Given the description of an element on the screen output the (x, y) to click on. 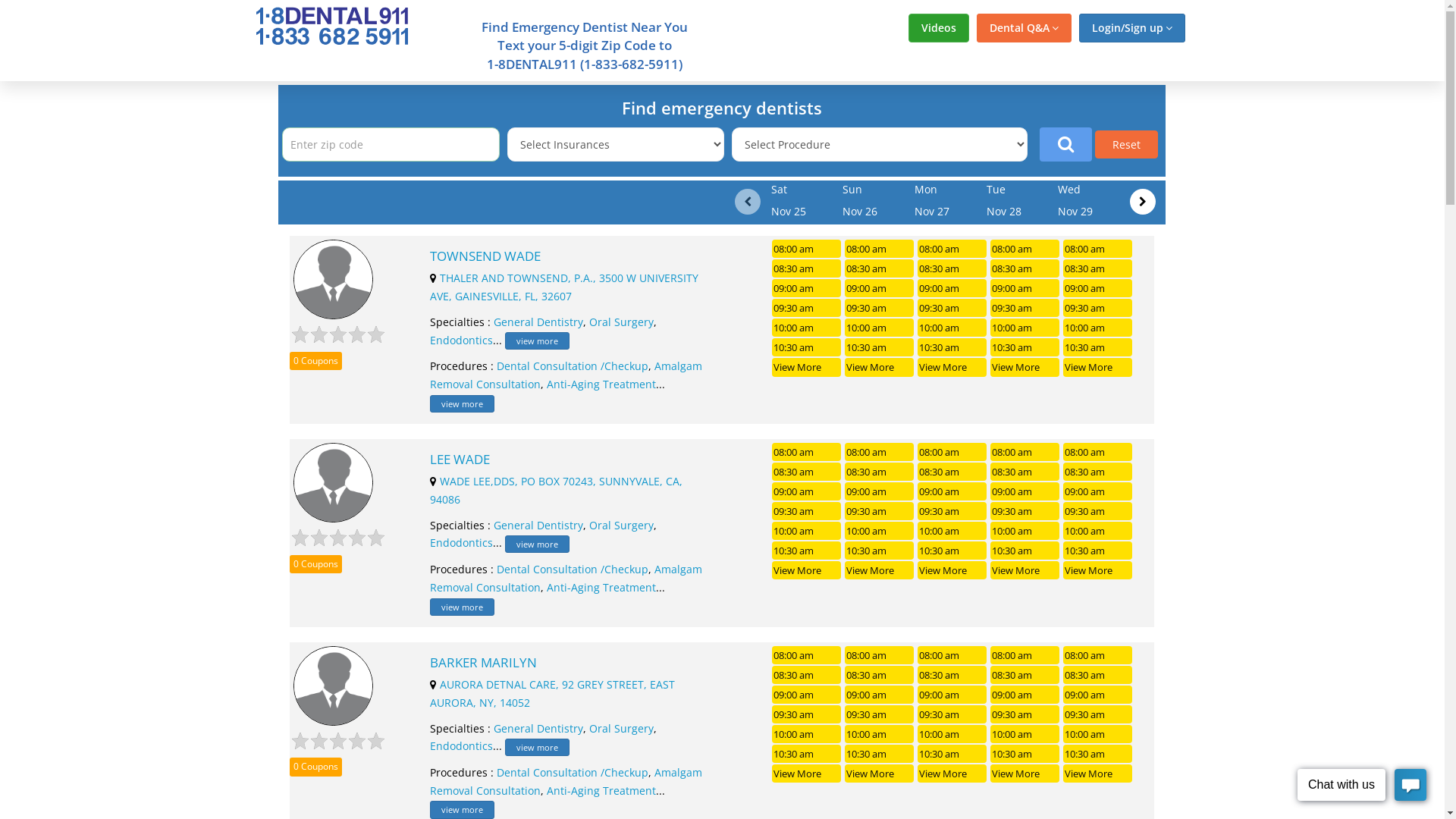
Colorado Element type: text (329, 434)
Hawaii Element type: text (467, 368)
Louisiana Element type: text (619, 325)
Illinois Element type: text (465, 434)
Delaware Element type: text (330, 500)
North carolina Element type: text (777, 325)
By name Element type: text (667, 291)
Arizona Element type: text (324, 390)
By Procedures Element type: text (1090, 291)
Nebraska Element type: text (763, 368)
District of columbia Element type: text (361, 478)
Alaska Element type: text (321, 325)
Minnesota Element type: text (622, 434)
Georgia Element type: text (469, 346)
Dental Q&A Element type: text (1023, 27)
Massachusetts Element type: text (635, 346)
Maine Element type: text (609, 390)
Mississippi Element type: text (623, 478)
By city Element type: text (561, 291)
Login/Sign up Element type: text (1131, 27)
Advertisement Element type: hover (129, 308)
Kentucky Element type: text (474, 500)
California Element type: text (331, 412)
Iowa Element type: text (460, 390)
Indiana Element type: text (469, 456)
By Insurances Element type: text (941, 291)
New hampshire Element type: text (782, 390)
By Specialties Element type: text (796, 291)
Idaho Element type: text (463, 412)
Advertisement Element type: hover (1313, 308)
New jersey Element type: text (767, 412)
By zipcode Element type: text (449, 291)
Missouri Element type: text (616, 456)
By state Element type: text (332, 291)
Florida Element type: text (467, 325)
Michigan Element type: text (617, 412)
Videos Element type: text (938, 27)
Montana Element type: text (617, 500)
Kansas Element type: text (467, 478)
Connecticut Element type: text (338, 456)
Reset Element type: text (1126, 144)
Alabama Element type: text (329, 346)
North dakota Element type: text (774, 346)
Arkansas Element type: text (329, 368)
Maryland Element type: text (619, 368)
